Given the description of an element on the screen output the (x, y) to click on. 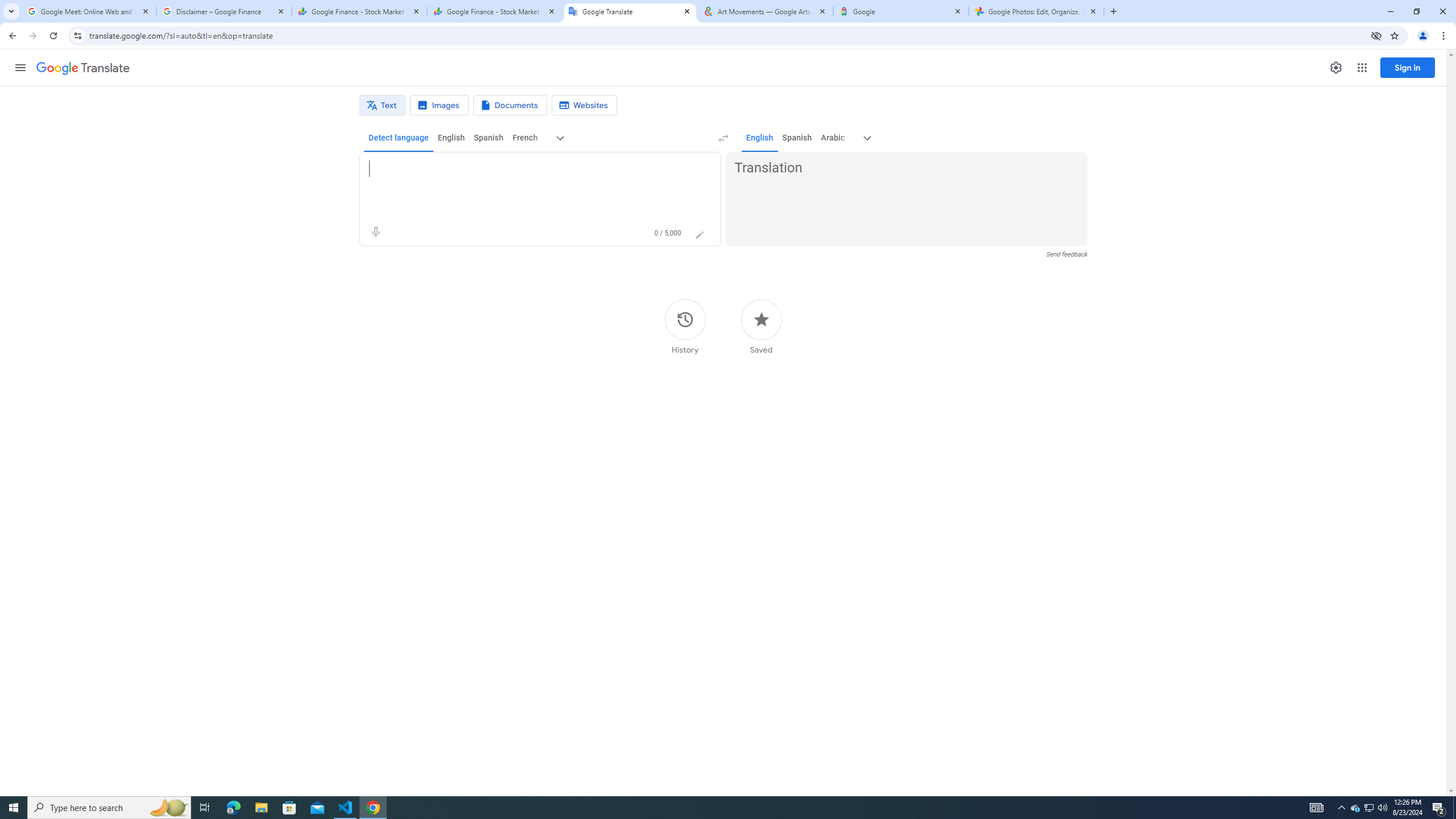
French (524, 137)
Source text (529, 167)
